Given the description of an element on the screen output the (x, y) to click on. 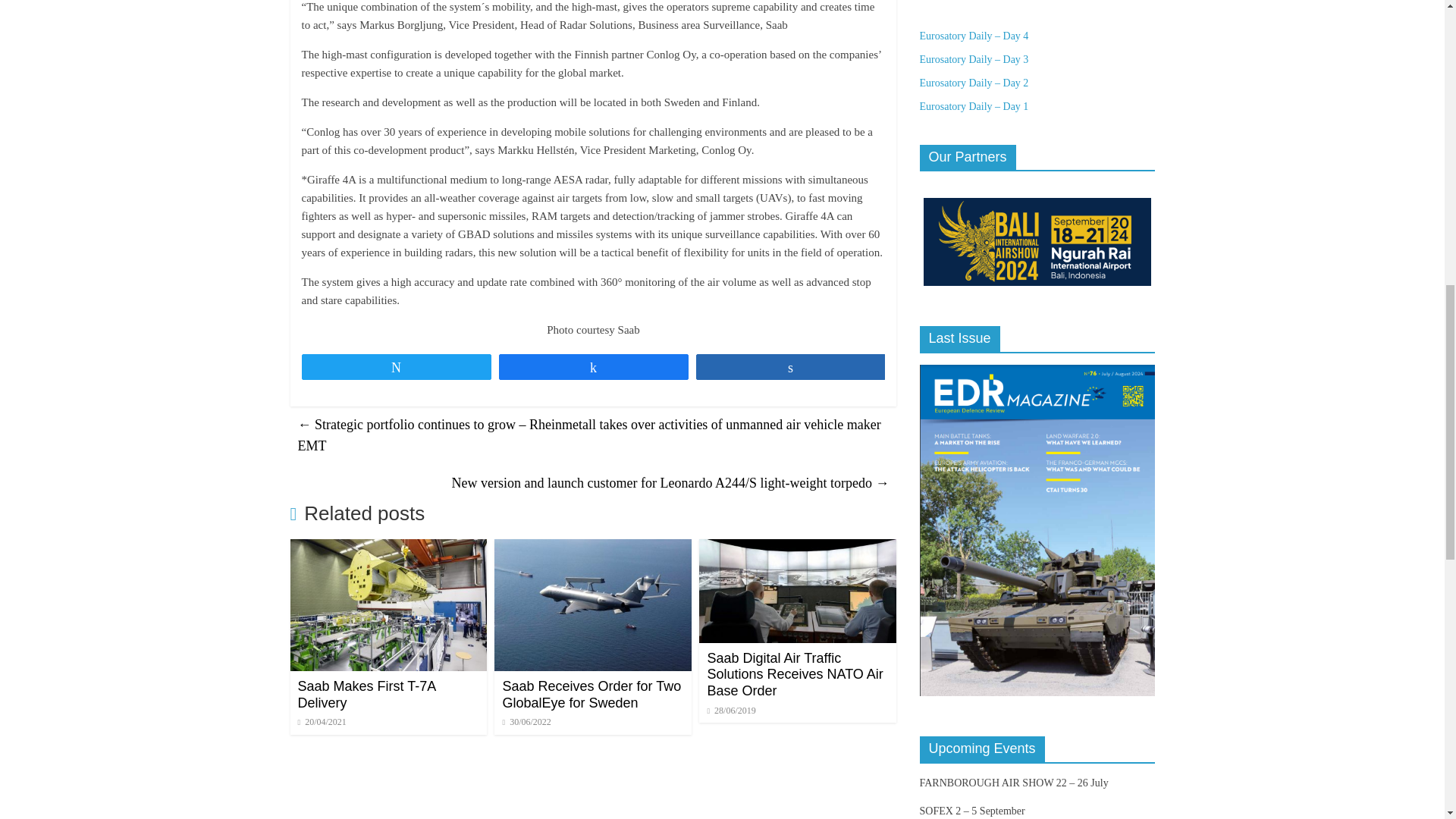
13:57 (321, 721)
Saab Makes First T-7A Delivery (366, 694)
Saab Receives Order for Two GlobalEye for Sweden (593, 548)
Saab Receives Order for Two GlobalEye for Sweden (591, 694)
Saab Makes First T-7A Delivery (387, 548)
Saab Makes First T-7A Delivery (366, 694)
